Given the description of an element on the screen output the (x, y) to click on. 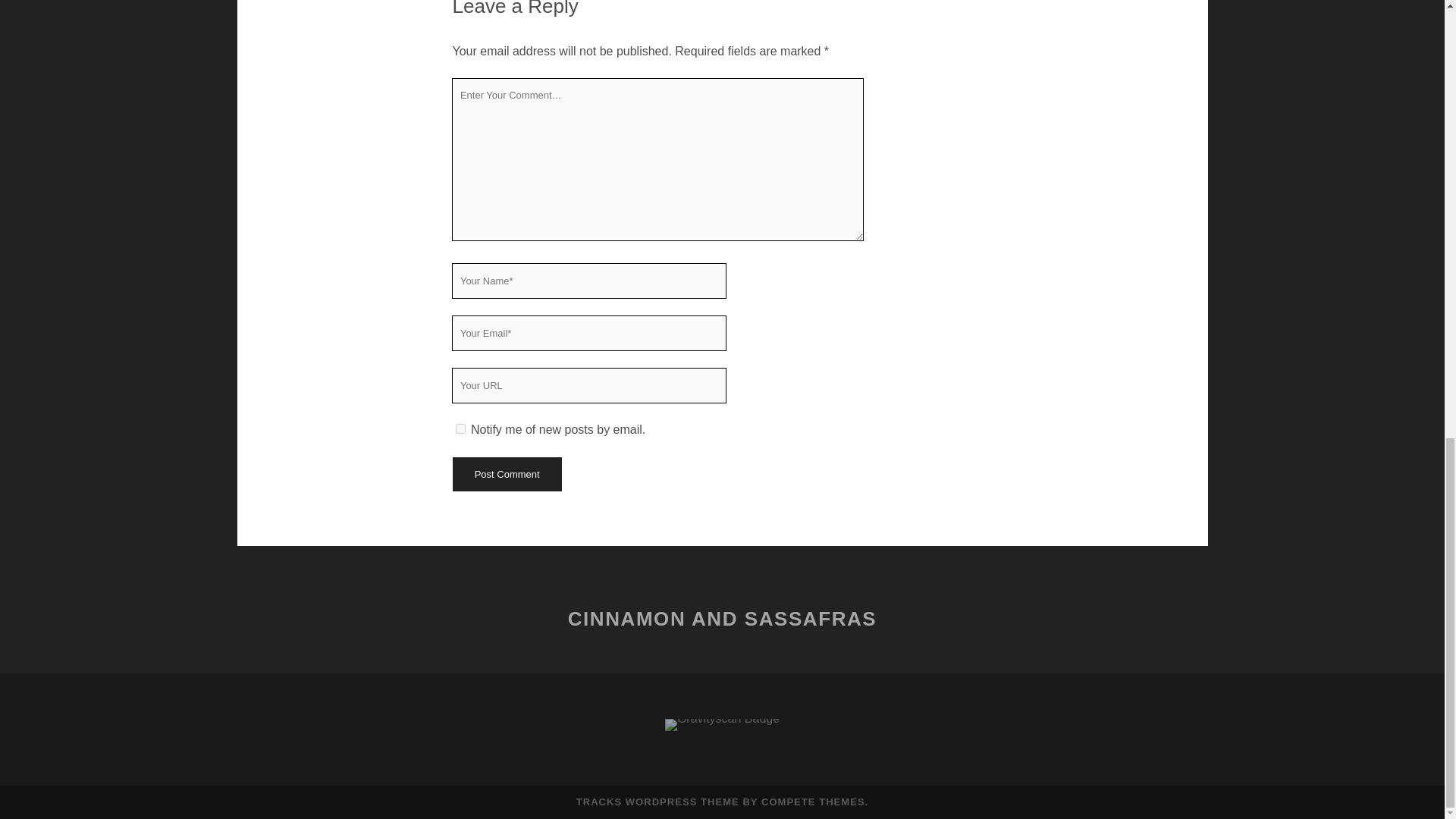
TRACKS WORDPRESS THEME (657, 801)
CINNAMON AND SASSAFRAS (721, 618)
subscribe (459, 429)
Post Comment (505, 474)
Post Comment (505, 474)
